Given the description of an element on the screen output the (x, y) to click on. 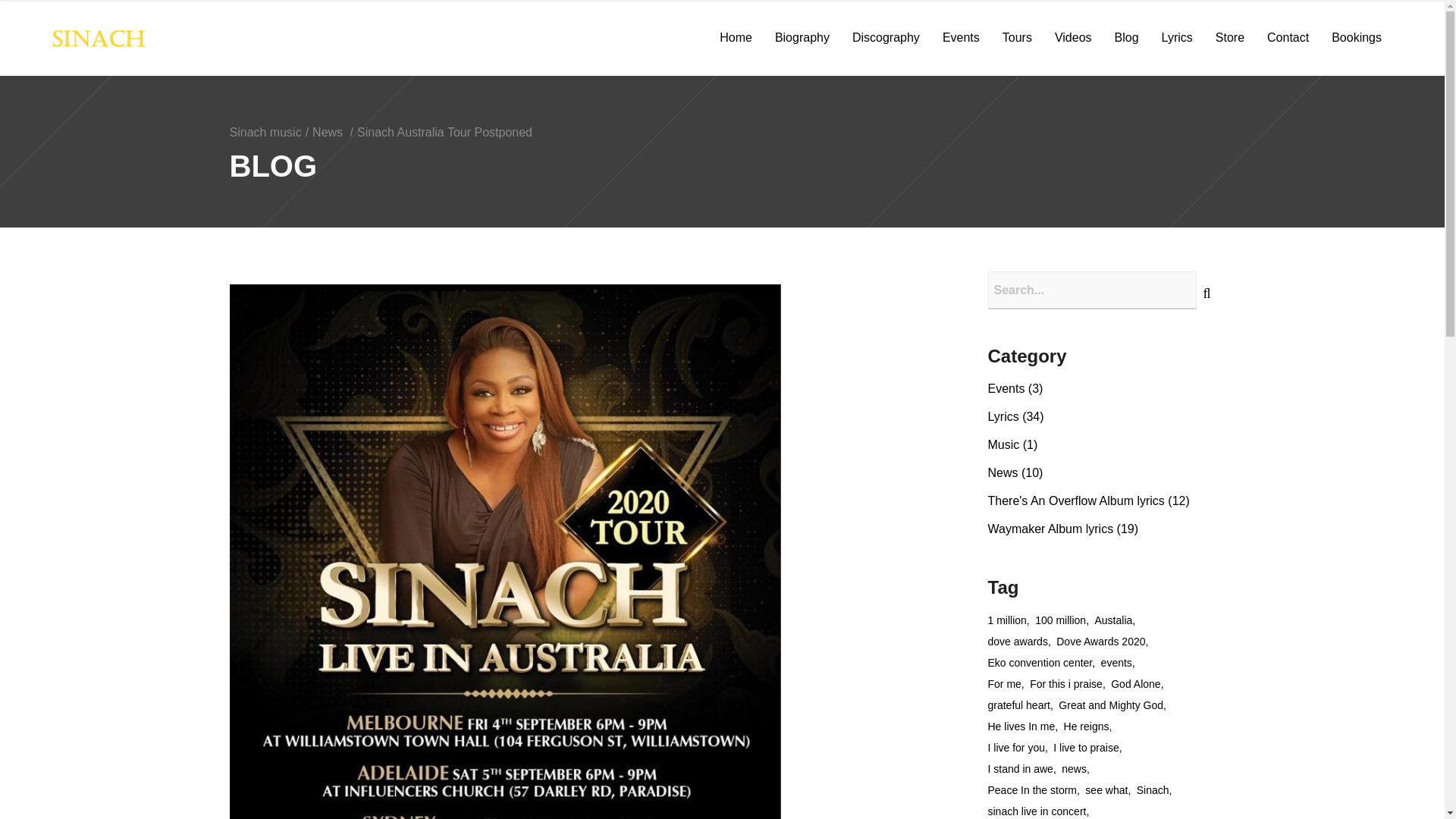
Bookings (1356, 38)
Biography (801, 38)
Discography (886, 38)
